Given the description of an element on the screen output the (x, y) to click on. 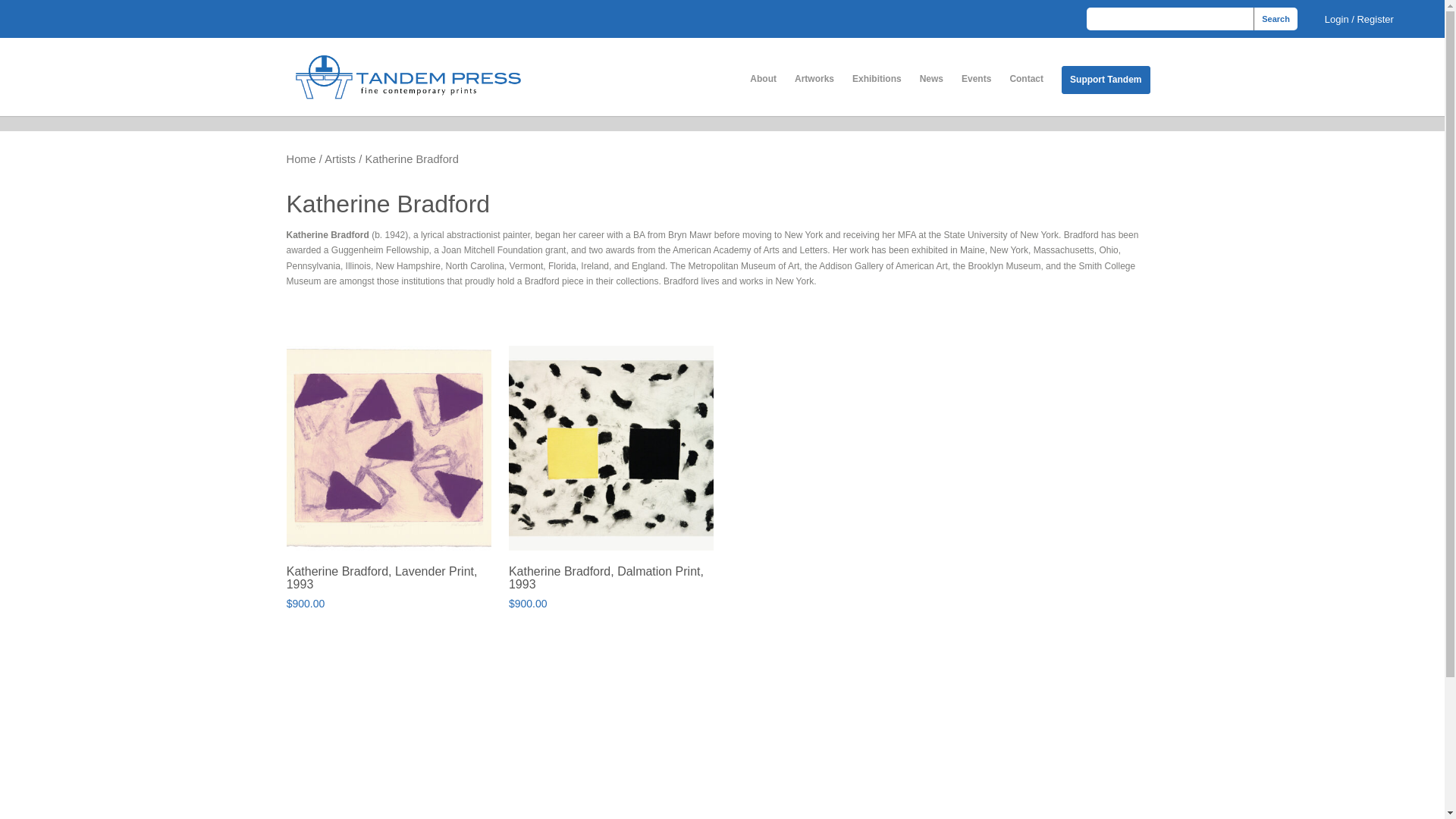
About (762, 78)
Support Tandem (1105, 79)
News (931, 78)
Contact (1026, 78)
Search (1275, 18)
Artists (339, 159)
Events (975, 78)
Search (1275, 18)
Exhibitions (876, 78)
Artworks (814, 78)
